Given the description of an element on the screen output the (x, y) to click on. 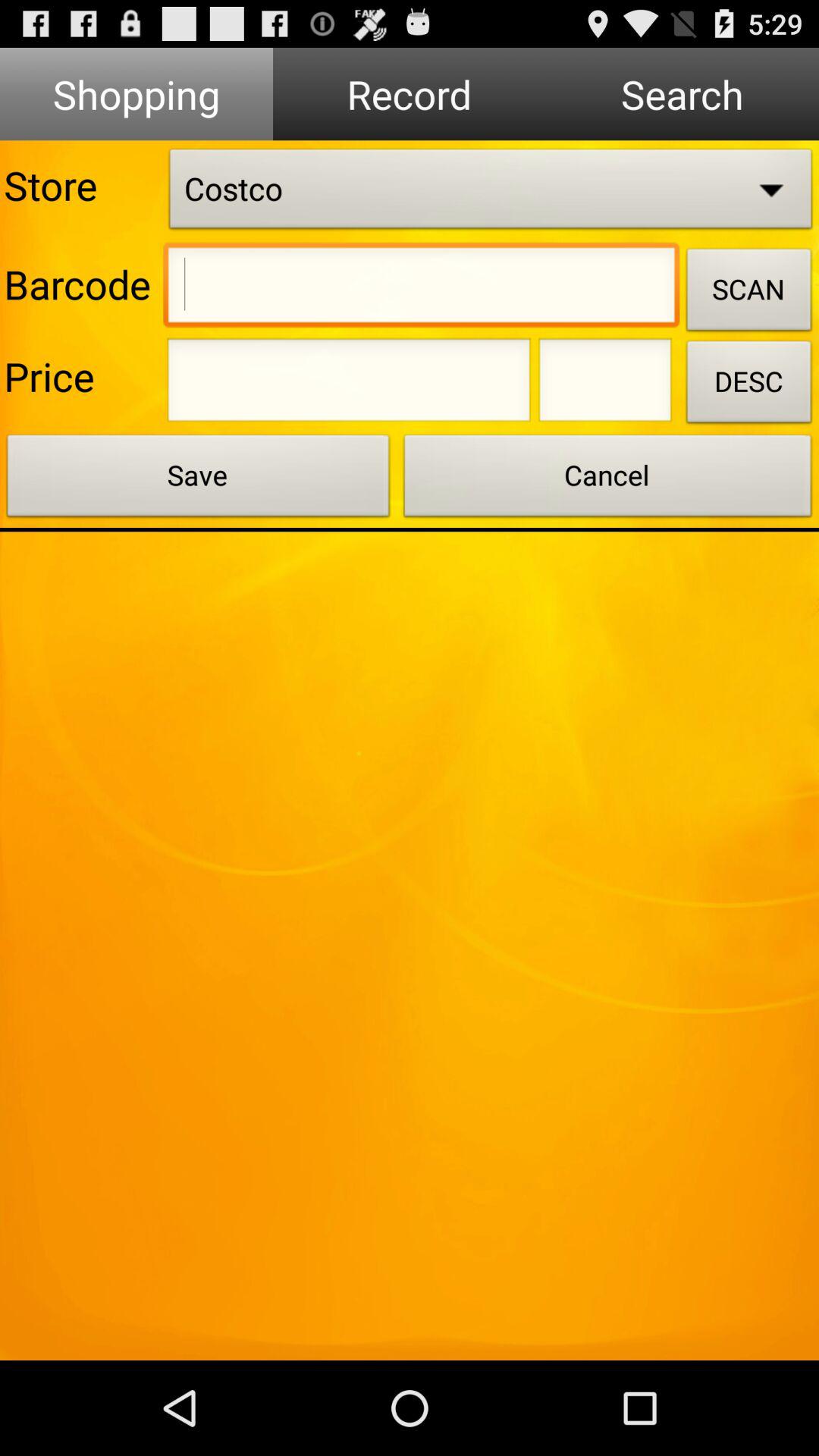
value for product (348, 384)
